Given the description of an element on the screen output the (x, y) to click on. 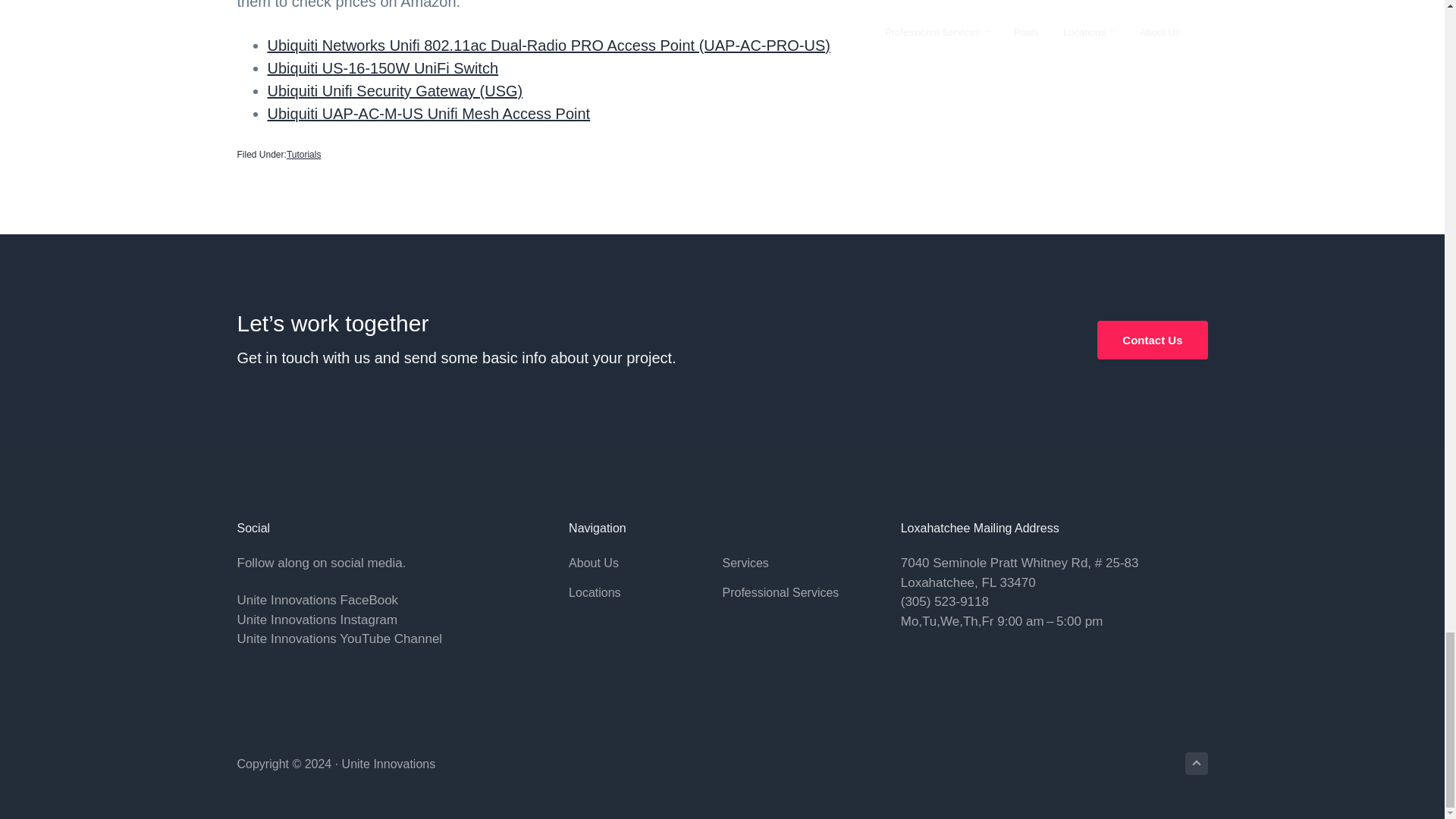
Tutorials (303, 154)
Ubiquiti US-16-150W UniFi Switch (381, 67)
Ubiquiti UAP-AC-M-US Unifi Mesh Access Point (427, 113)
